Given the description of an element on the screen output the (x, y) to click on. 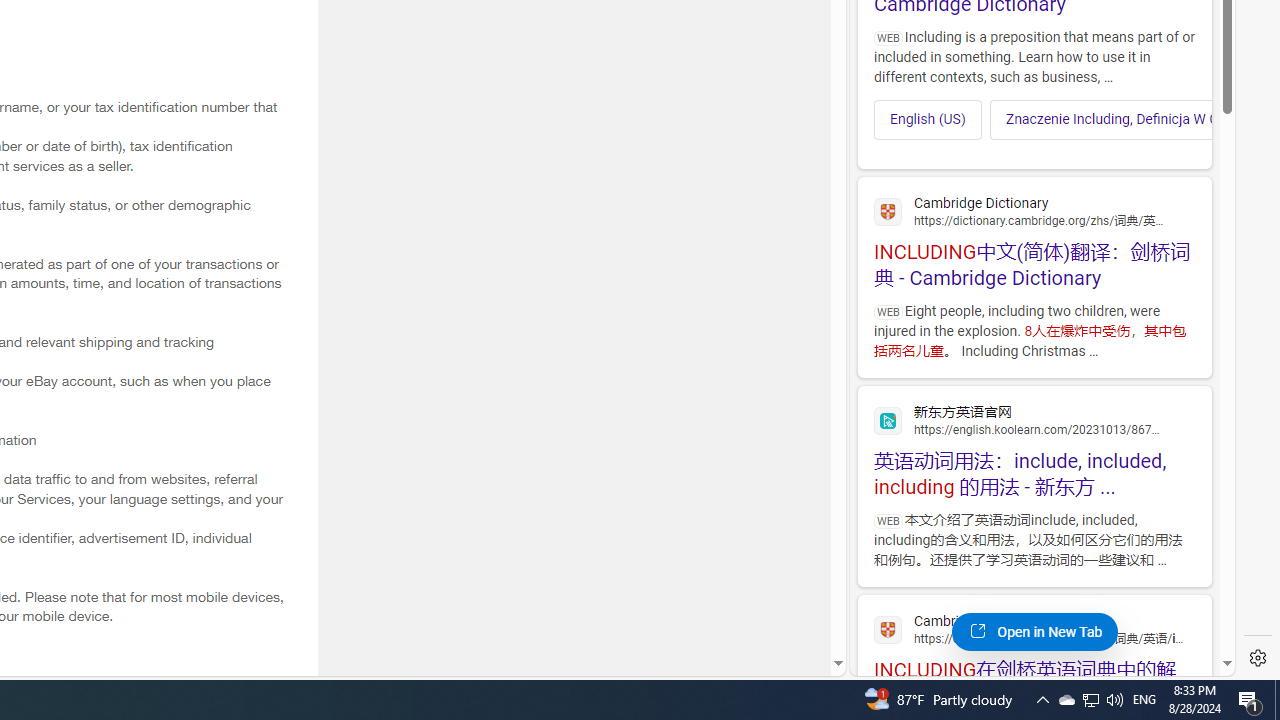
Click to scroll right (1183, 119)
Cambridge Dictionary (1034, 628)
English (US) (927, 119)
English (US) (927, 119)
Global web icon (888, 629)
